Given the description of an element on the screen output the (x, y) to click on. 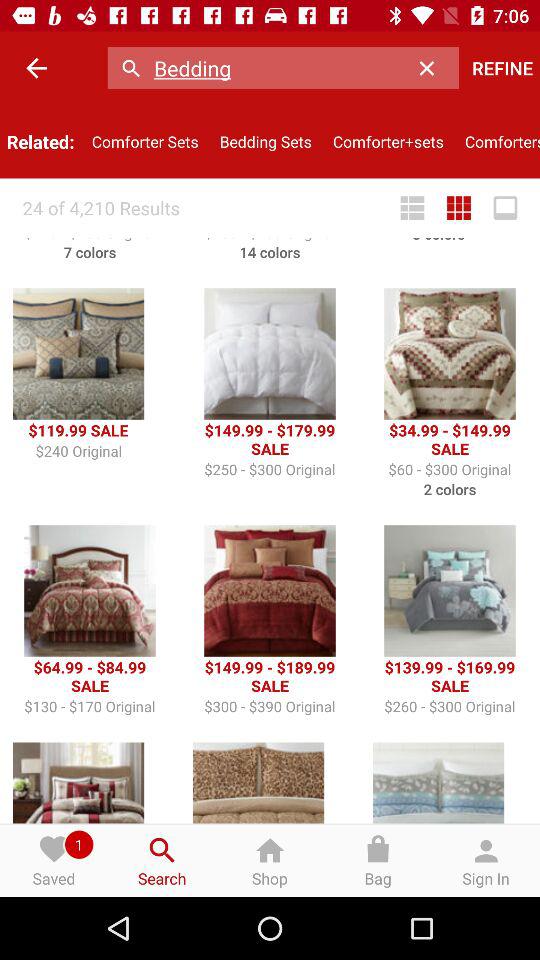
choose icon next to the comforter+sets (497, 141)
